Given the description of an element on the screen output the (x, y) to click on. 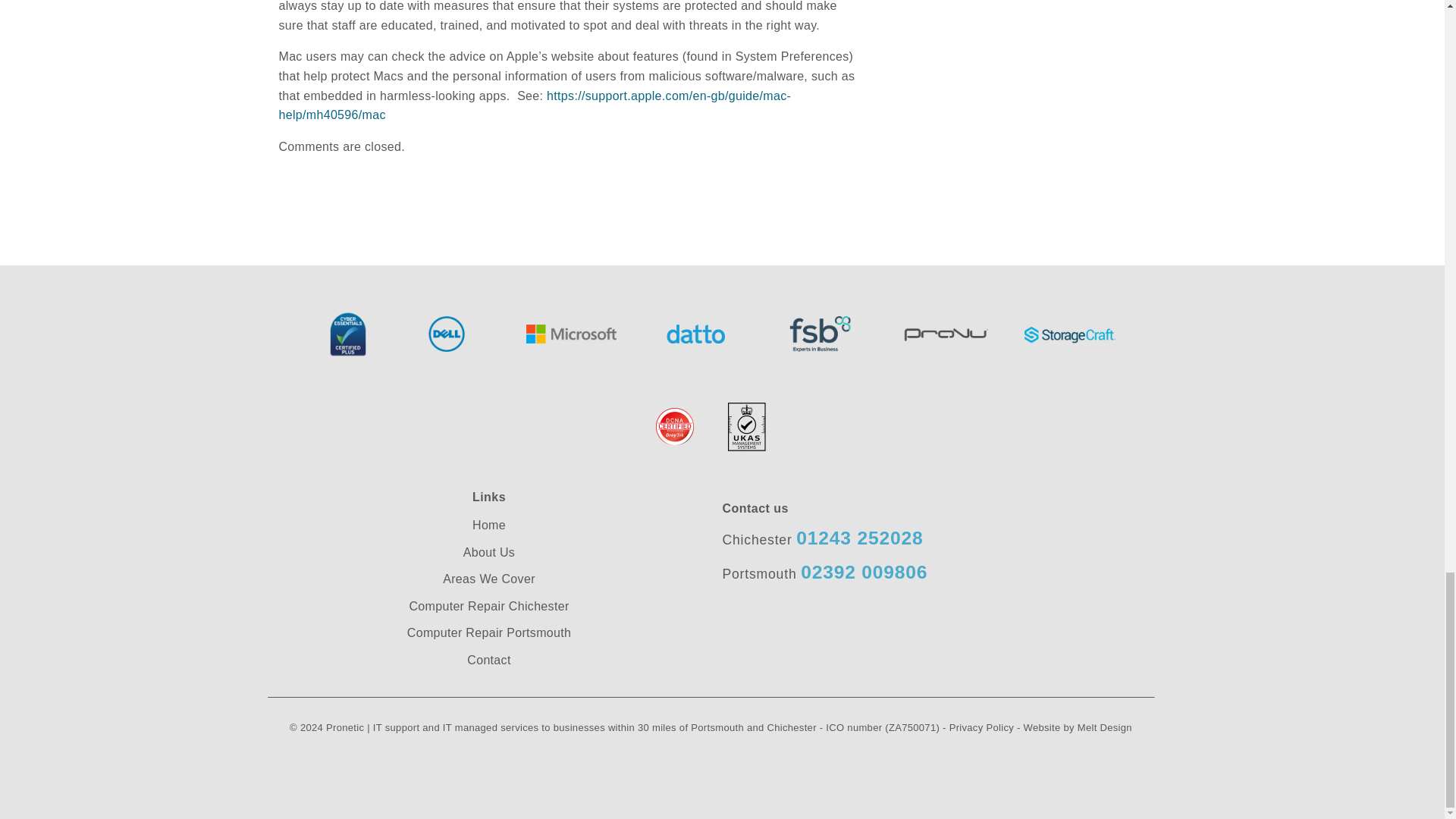
About Us (488, 552)
Computer Repair Portsmouth (488, 633)
Home (488, 524)
Computer Repair Chichester (488, 605)
Areas We Cover (488, 578)
